Given the description of an element on the screen output the (x, y) to click on. 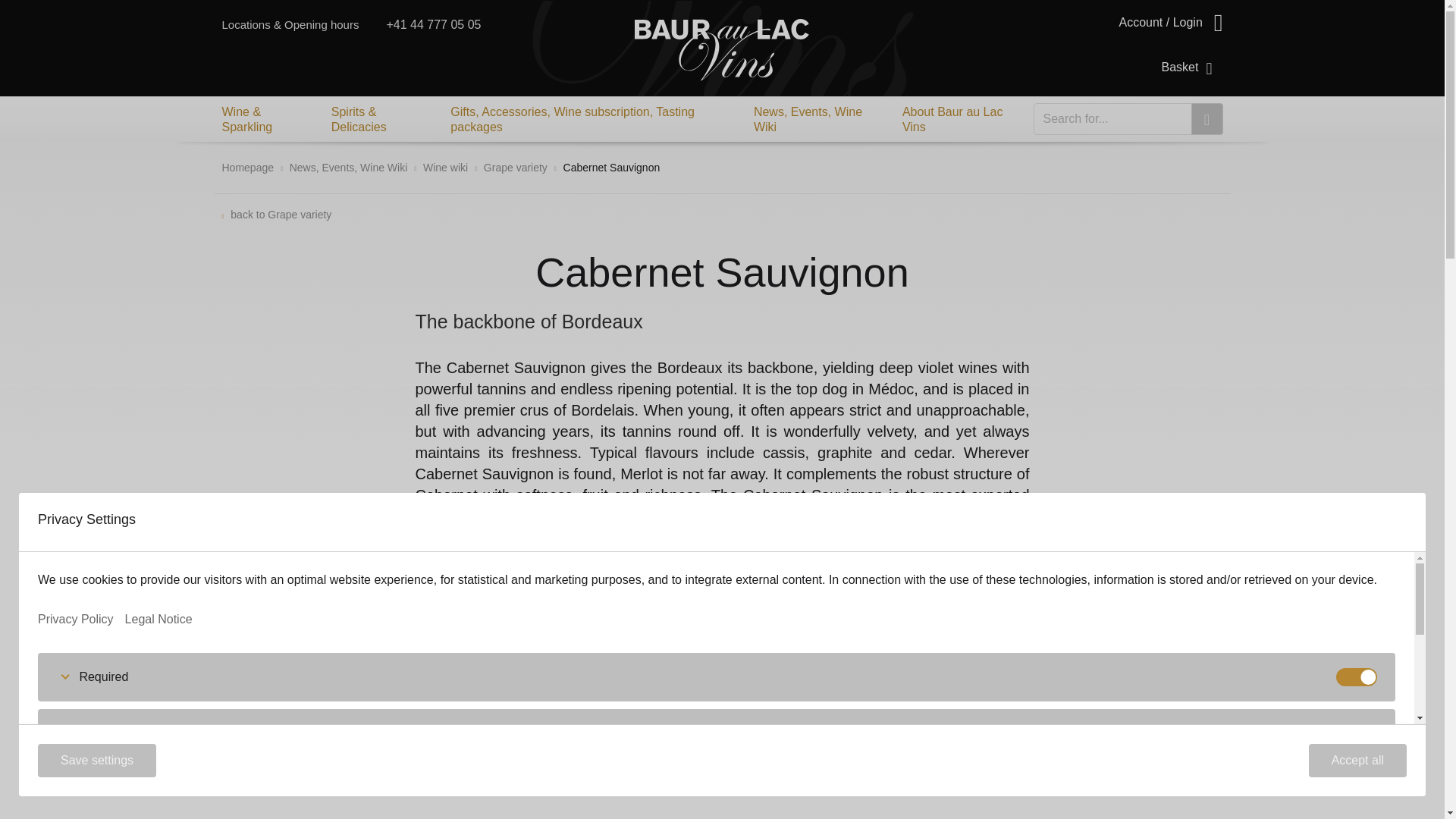
search (1207, 119)
Parker 94 Points (538, 711)
Parker 90 Points (307, 711)
News, Events, Wine Wiki (817, 119)
Baur au Lac Vins (721, 49)
Gifts, Accessories, Wine subscription, Tasting packages (590, 119)
Login (1170, 30)
About Baur au Lac Vins (962, 119)
